Given the description of an element on the screen output the (x, y) to click on. 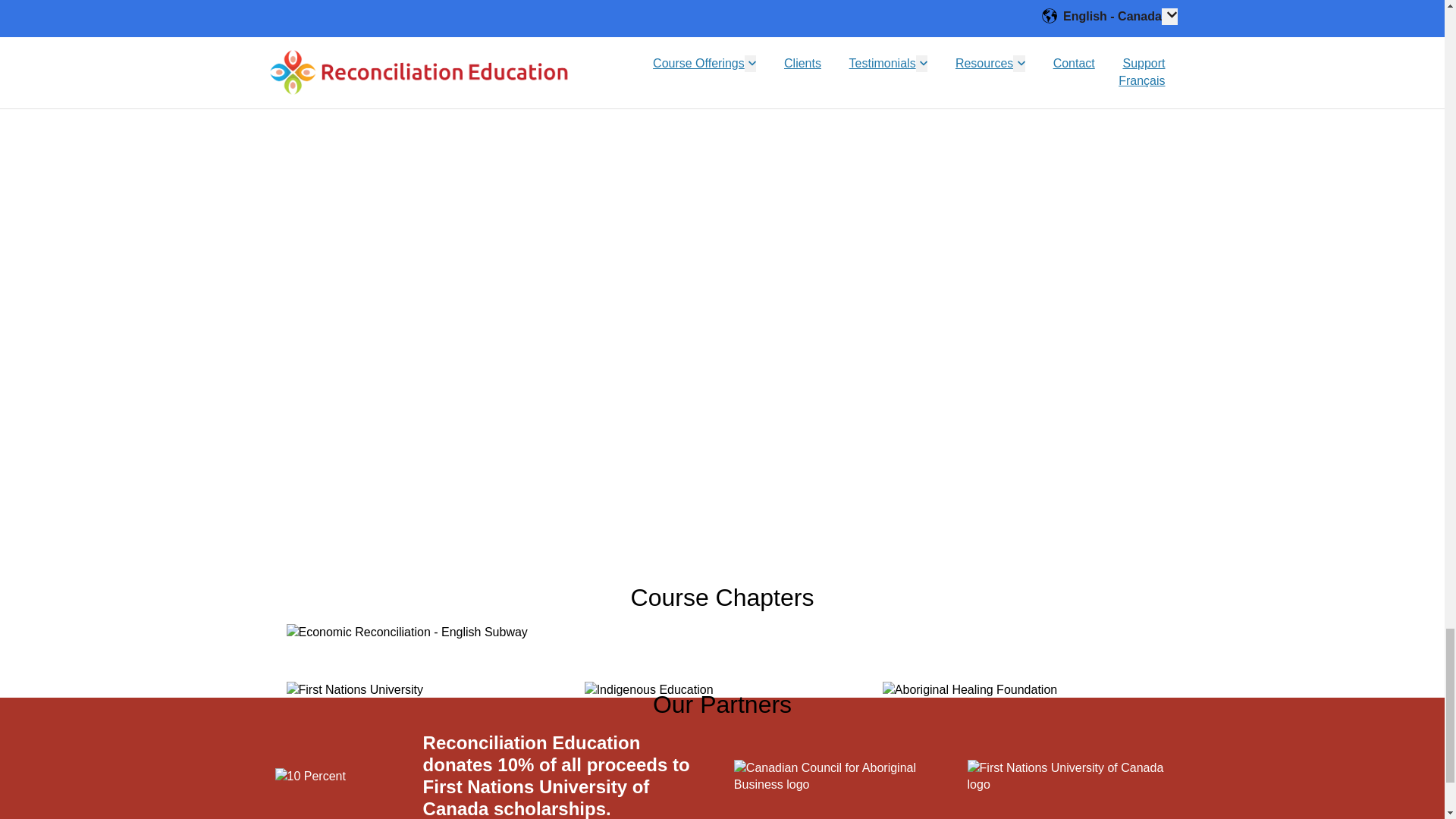
Aboriginal Healing Foundation (969, 689)
Indigenous Education (649, 689)
First Nations University of Canada logo (1072, 776)
First Nations University (354, 689)
Economic Reconciliation - English Subway (406, 632)
Canadian Council for Aboriginal Business logo (838, 776)
10 Percent (310, 776)
